Given the description of an element on the screen output the (x, y) to click on. 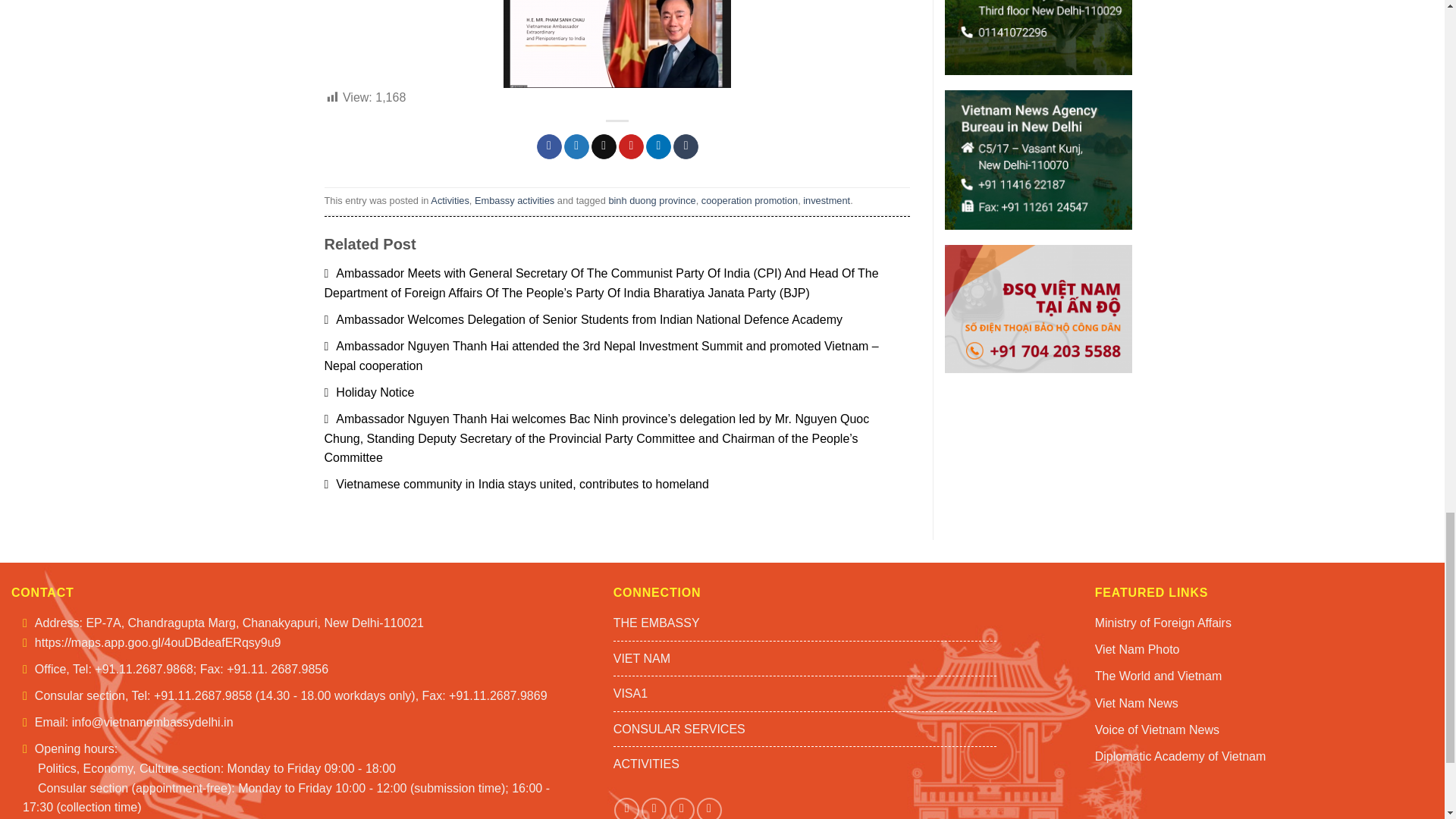
Holiday Notice (369, 391)
